Given the description of an element on the screen output the (x, y) to click on. 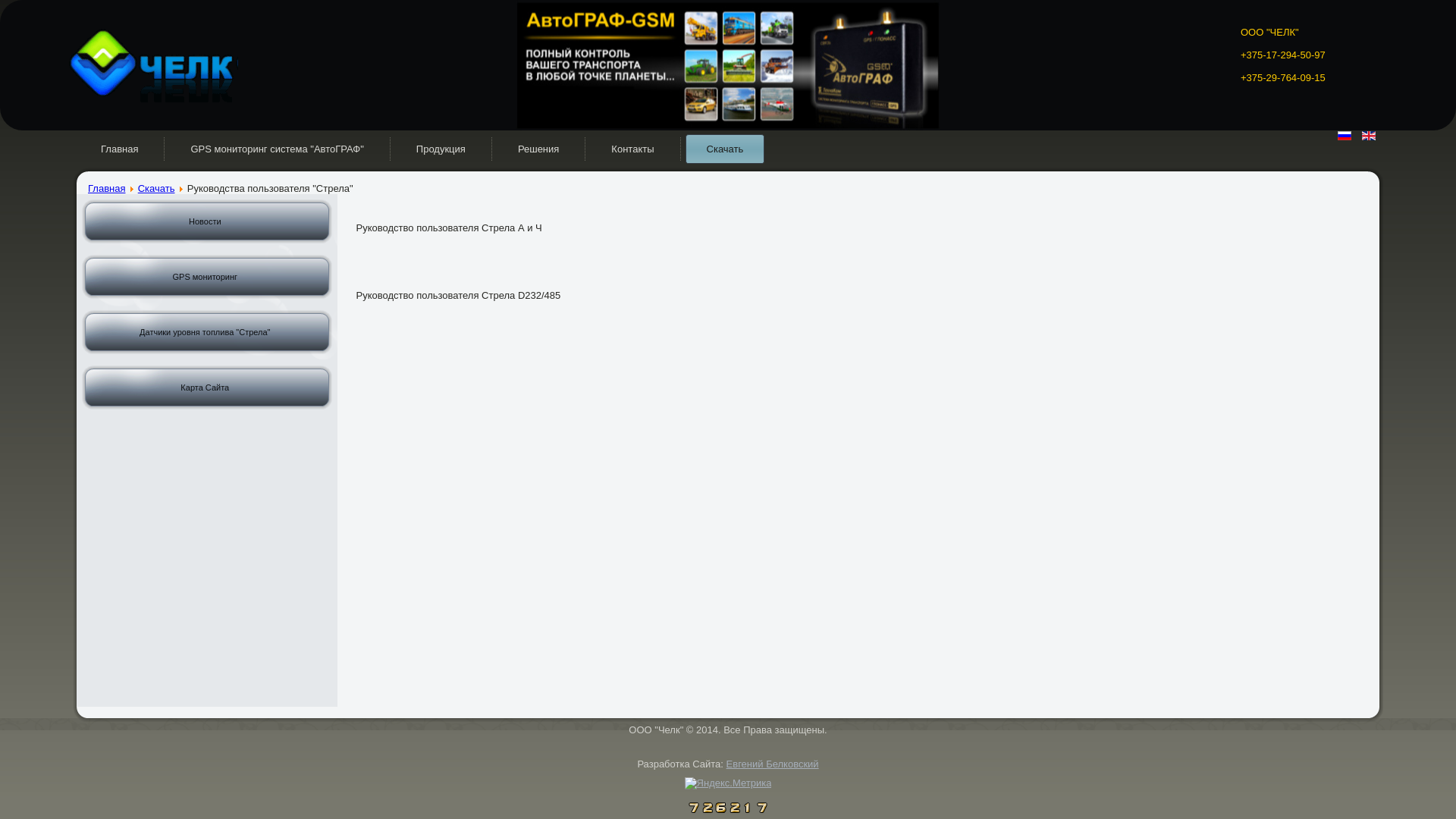
English (UK) Element type: hover (1368, 135)
